Given the description of an element on the screen output the (x, y) to click on. 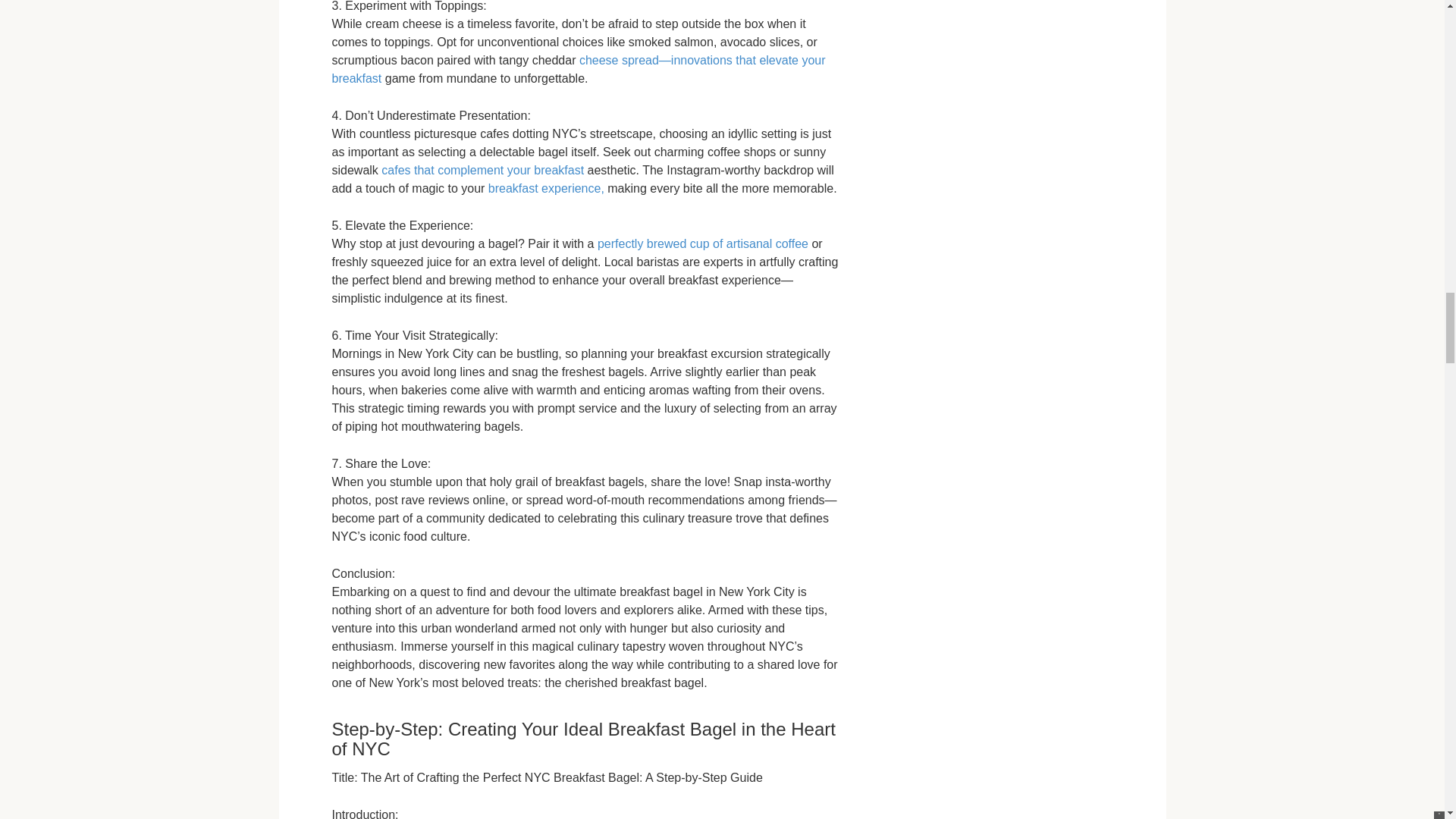
perfectly brewed cup of artisanal coffee (702, 243)
breakfast experience, (545, 187)
cafes that complement your breakfast (482, 169)
